Given the description of an element on the screen output the (x, y) to click on. 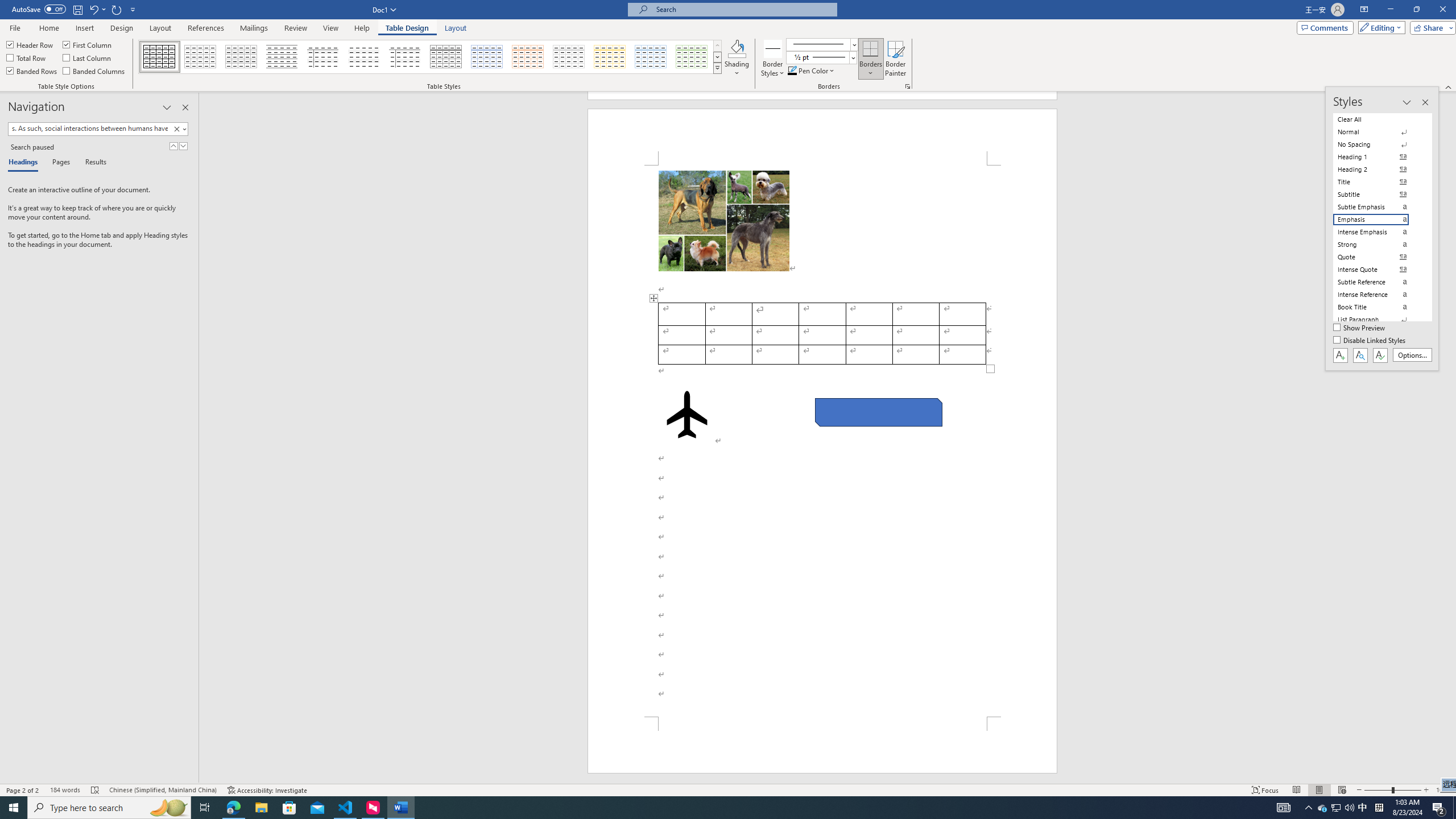
Class: NetUIButton (1380, 355)
Clear (178, 128)
Pen Color (811, 69)
Strong (1377, 244)
Book Title (1377, 306)
Show Preview (1360, 328)
Total Row (26, 56)
First Column (88, 44)
Normal (1377, 131)
